Given the description of an element on the screen output the (x, y) to click on. 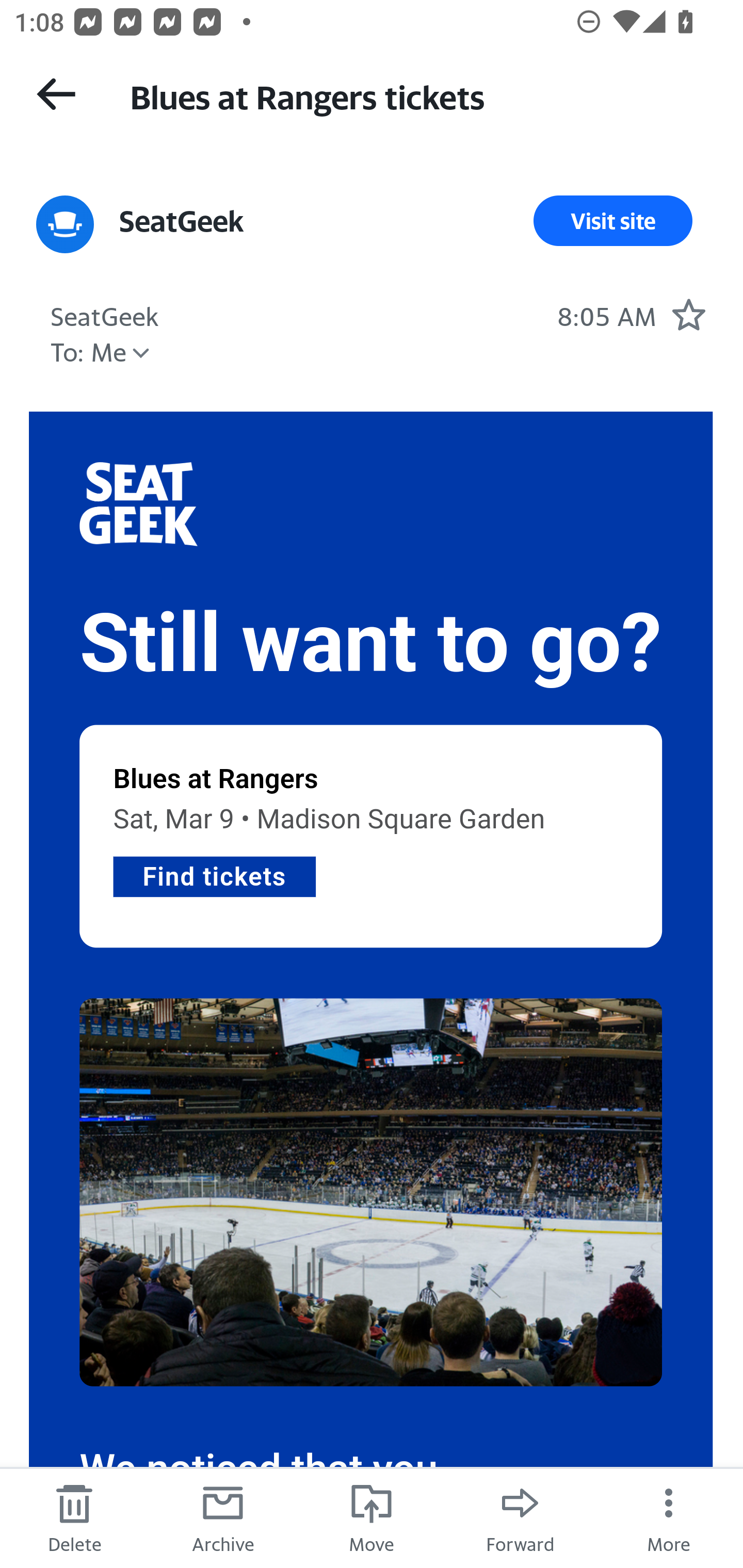
Back (55, 93)
Blues at Rangers tickets (418, 94)
View all messages from sender (64, 225)
Visit site Visit Site Link (612, 221)
SeatGeek Sender SeatGeek (181, 220)
SeatGeek Sender SeatGeek (104, 314)
Mark as starred. (688, 314)
Still want to go? (370, 643)
Blues at Rangers (215, 779)
Find tickets (213, 875)
Delete (74, 1517)
Archive (222, 1517)
Move (371, 1517)
Forward (519, 1517)
More (668, 1517)
